Given the description of an element on the screen output the (x, y) to click on. 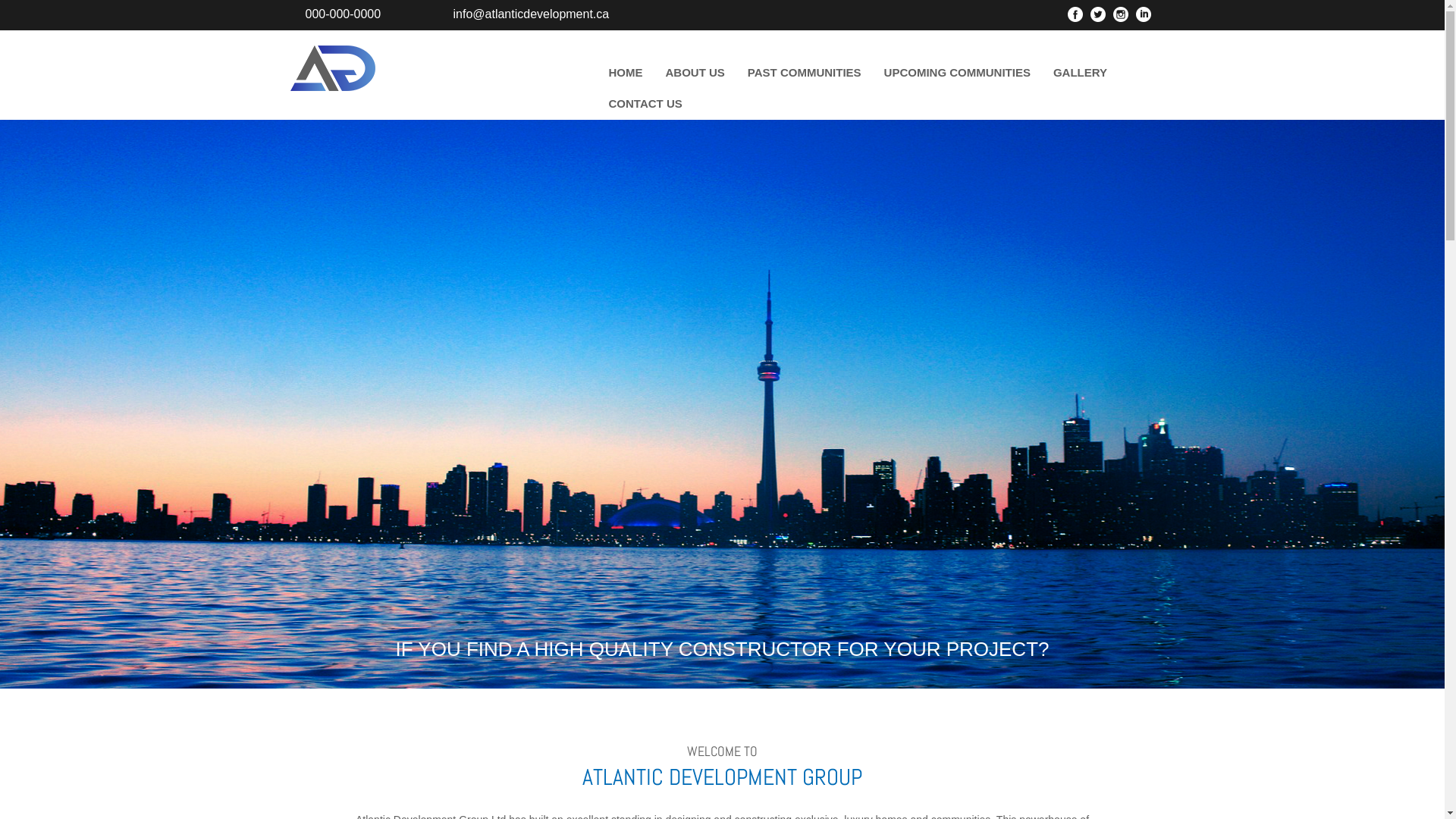
ABOUT US Element type: text (694, 71)
UPCOMING COMMUNITIES Element type: text (956, 71)
GALLERY Element type: text (1079, 71)
CONTACT US Element type: text (645, 103)
HOME Element type: text (625, 71)
PAST COMMUNITIES Element type: text (804, 71)
